Given the description of an element on the screen output the (x, y) to click on. 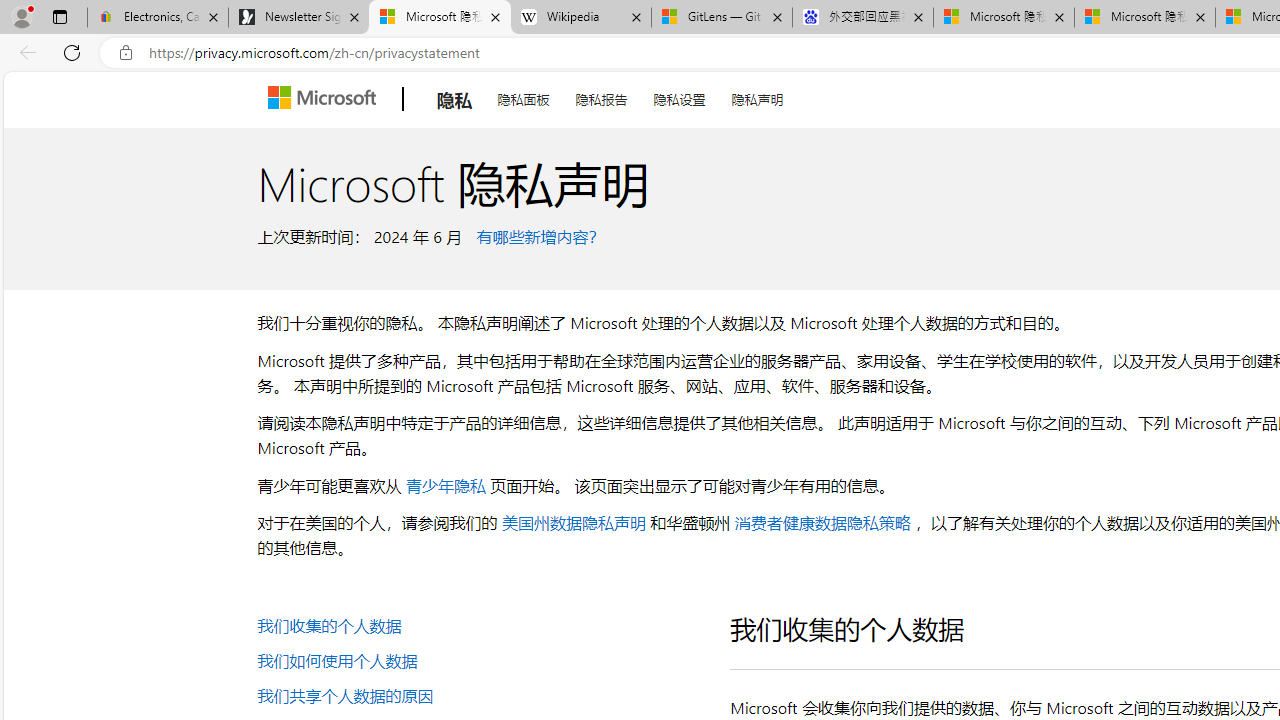
Newsletter Sign Up (298, 17)
